Given the description of an element on the screen output the (x, y) to click on. 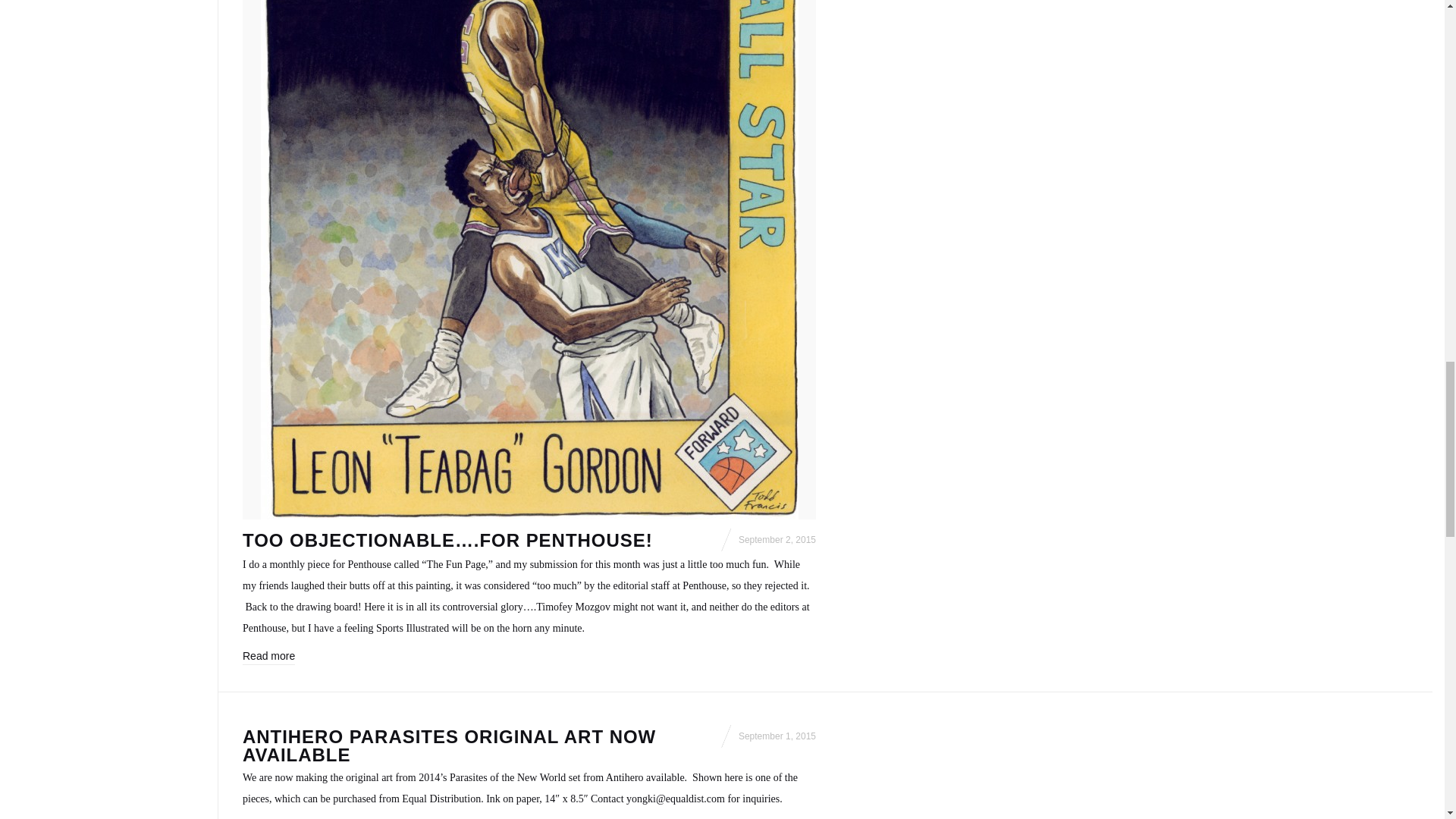
ANTIHERO PARASITES ORIGINAL ART NOW AVAILABLE (449, 745)
Permalink to Antihero Parasites Original Art Now Available (449, 745)
Read more (269, 657)
